Given the description of an element on the screen output the (x, y) to click on. 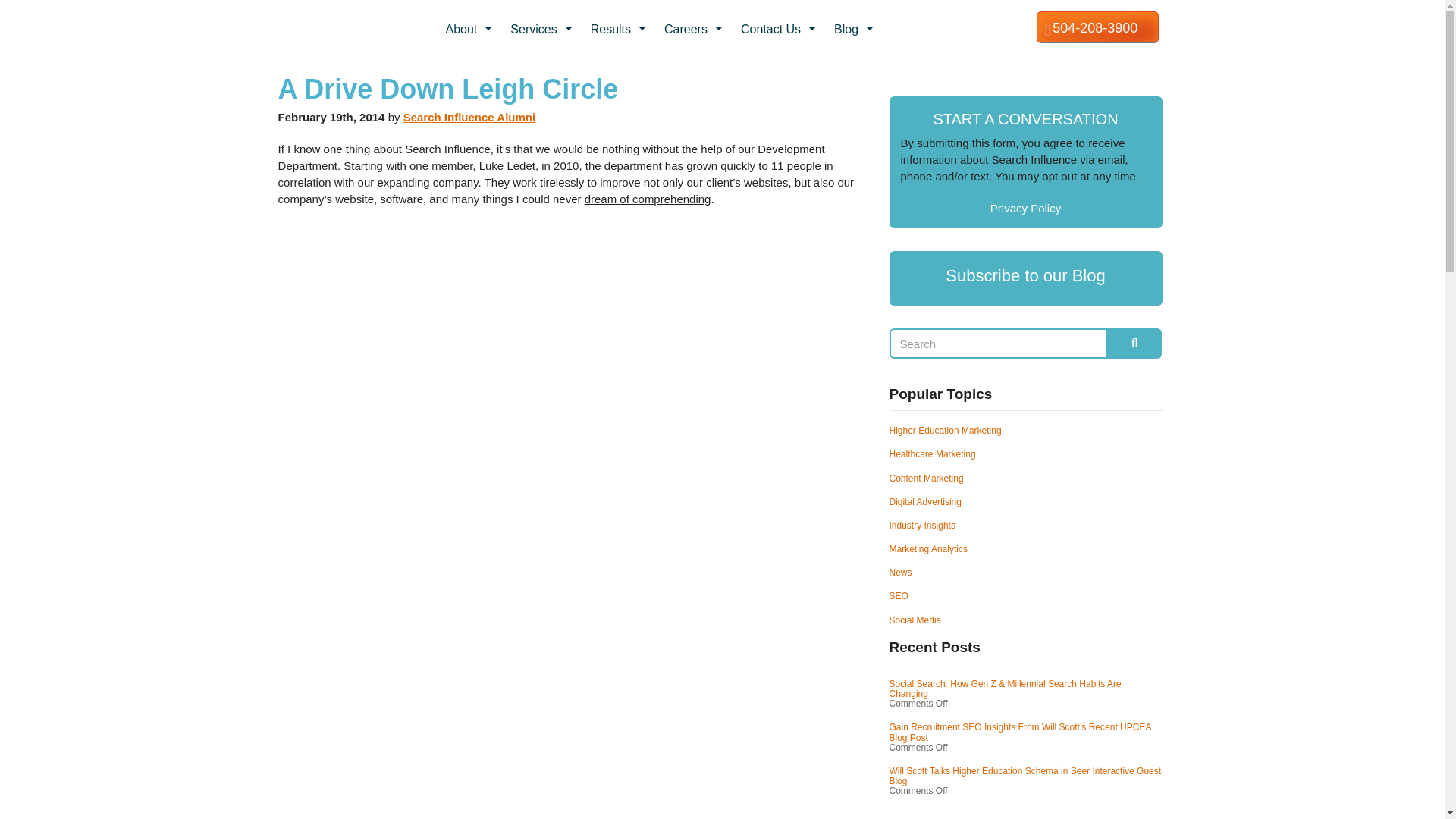
About (470, 29)
Blog (856, 29)
Services (543, 29)
Contact Us (780, 29)
Search (998, 343)
Results (620, 29)
Careers (695, 29)
